Given the description of an element on the screen output the (x, y) to click on. 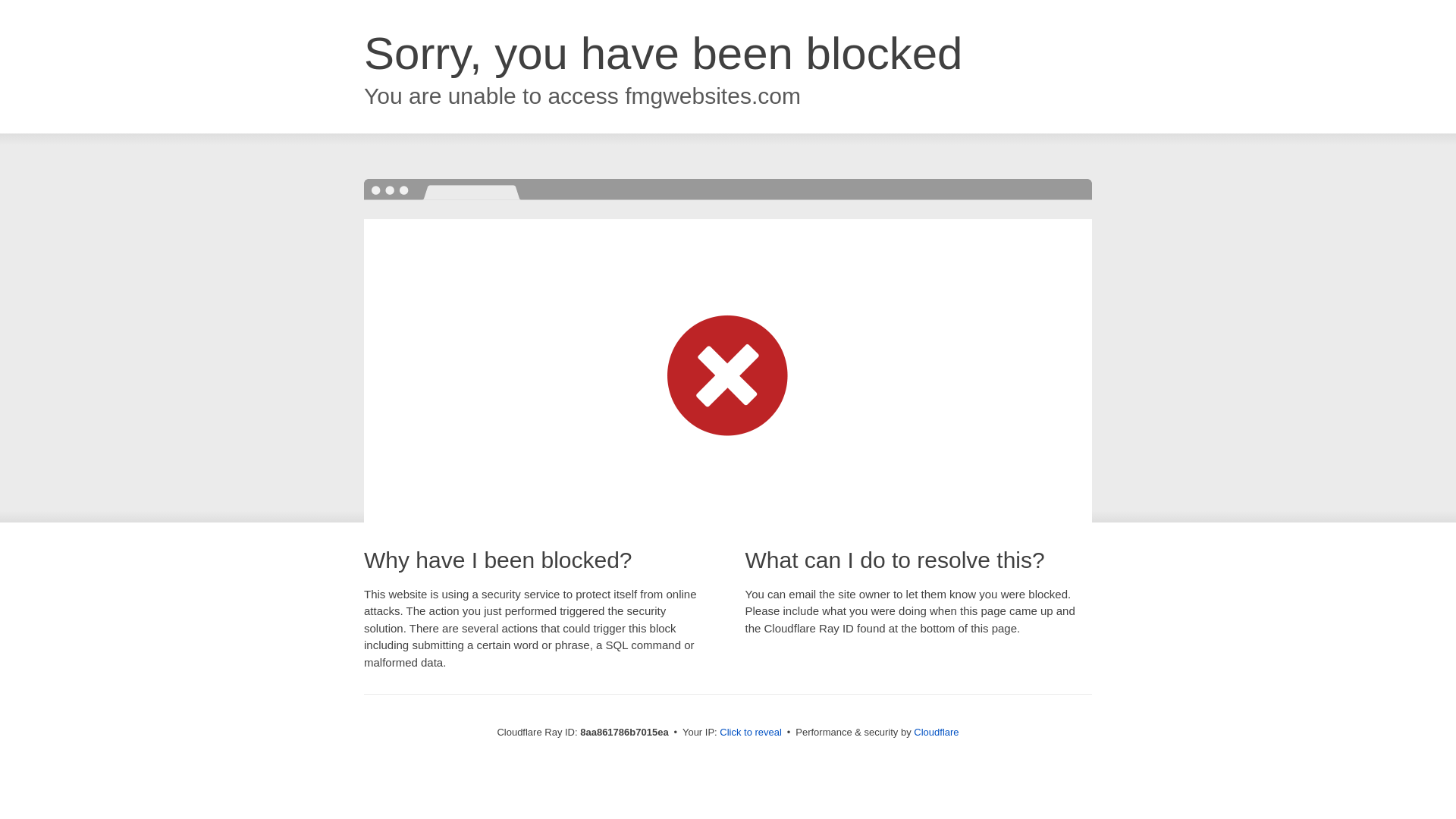
Cloudflare (936, 731)
Click to reveal (750, 732)
